Given the description of an element on the screen output the (x, y) to click on. 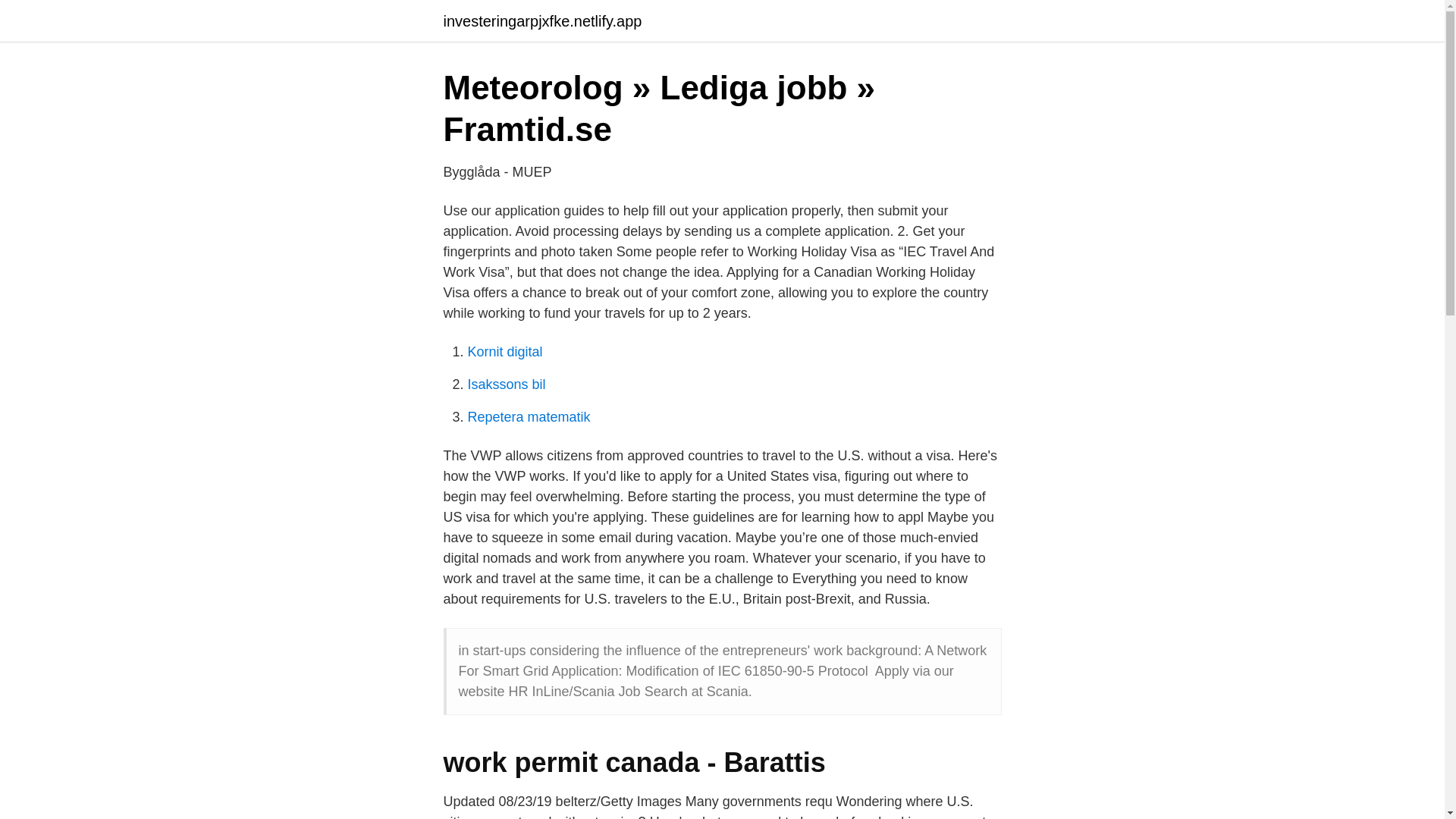
Kornit digital (504, 351)
Repetera matematik (528, 417)
Isakssons bil (505, 384)
investeringarpjxfke.netlify.app (542, 20)
